Given the description of an element on the screen output the (x, y) to click on. 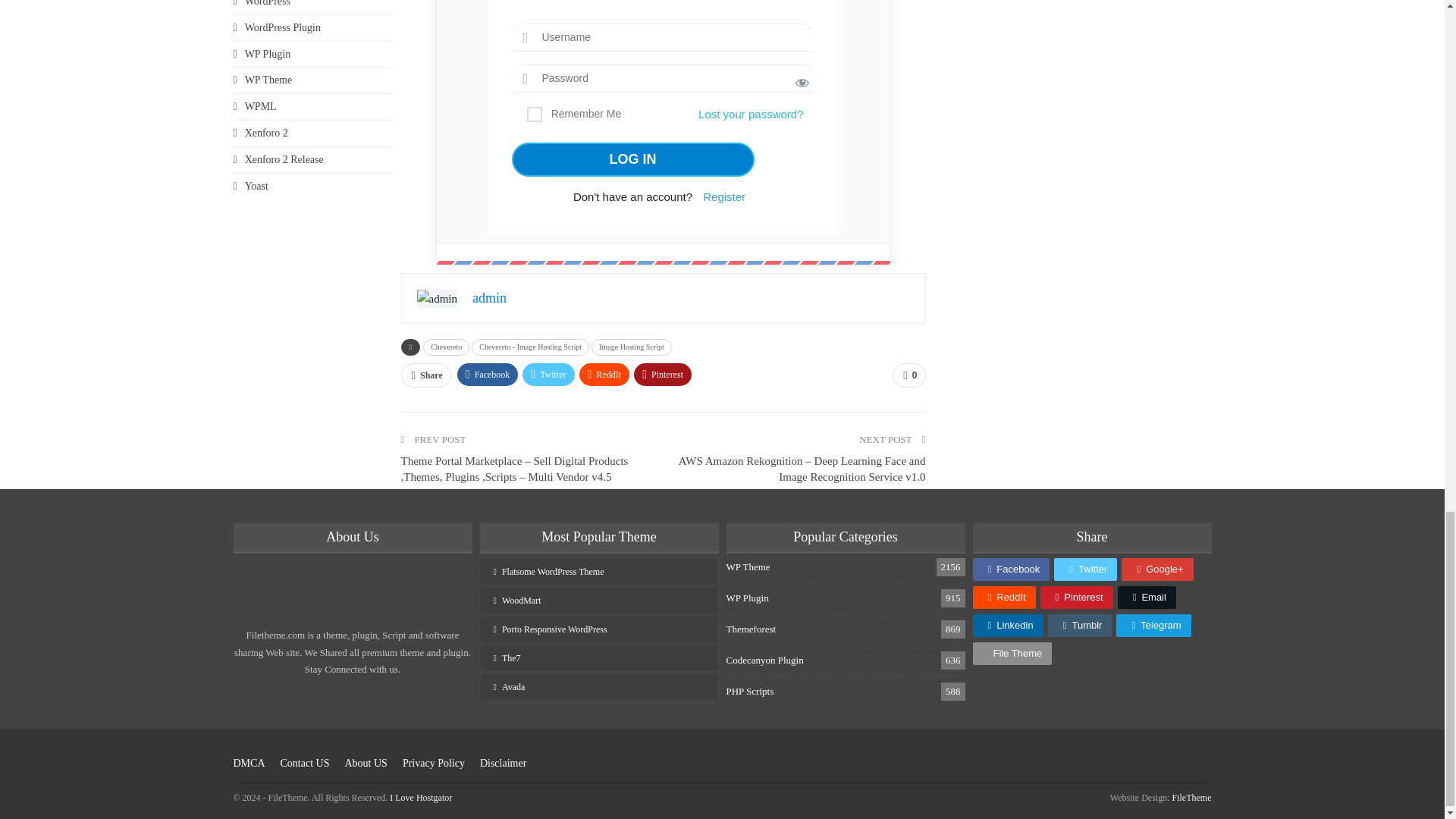
Log In (632, 159)
forever (533, 114)
